Given the description of an element on the screen output the (x, y) to click on. 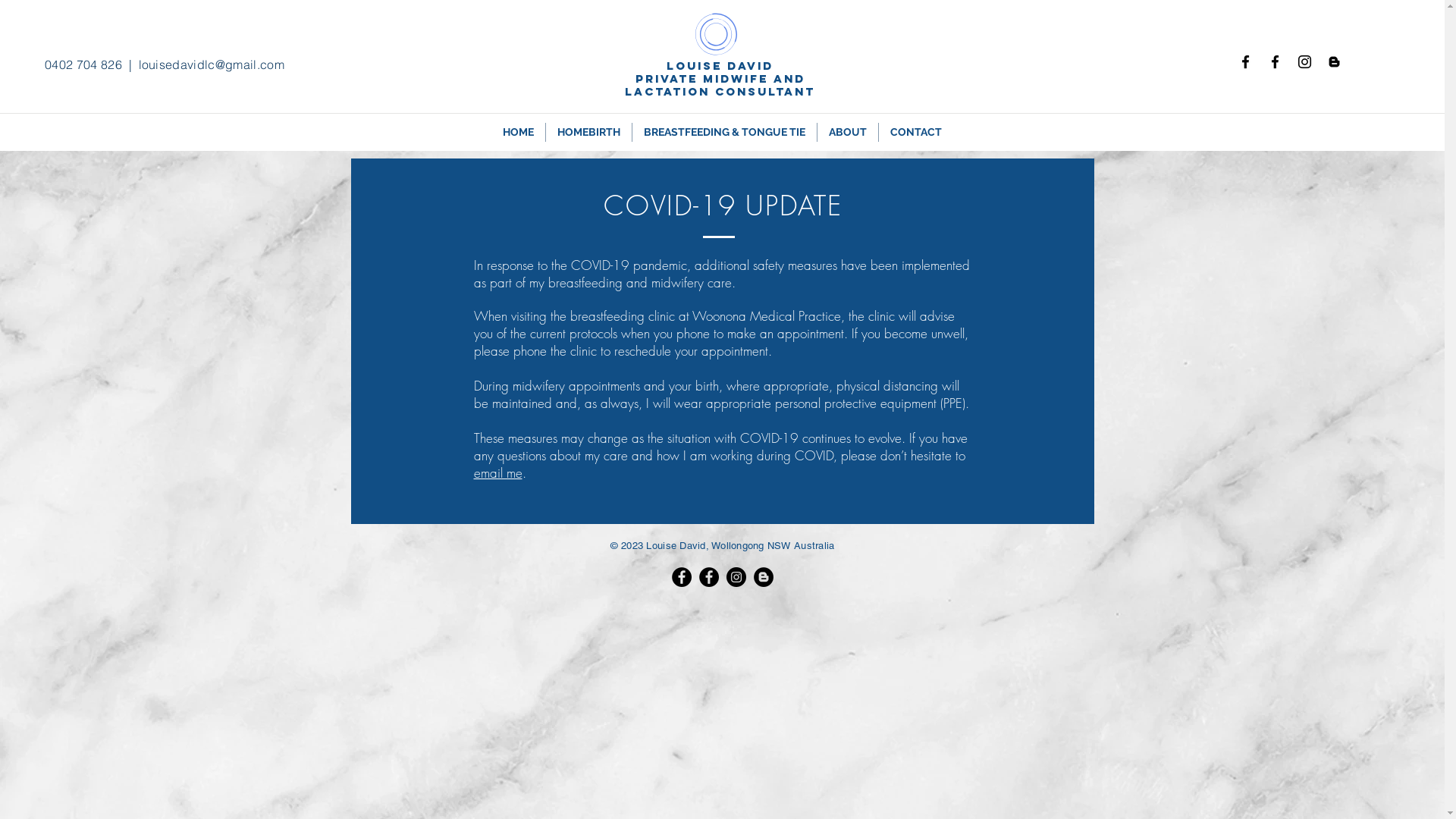
private midwife and lactation consultant Element type: text (719, 84)
louise david Element type: text (719, 65)
HOME Element type: text (518, 131)
ABOUT Element type: text (847, 131)
louisedavidlc@gmail.com Element type: text (211, 64)
email me Element type: text (497, 472)
HOMEBIRTH Element type: text (588, 131)
CONTACT Element type: text (915, 131)
BREASTFEEDING & TONGUE TIE Element type: text (724, 131)
